Given the description of an element on the screen output the (x, y) to click on. 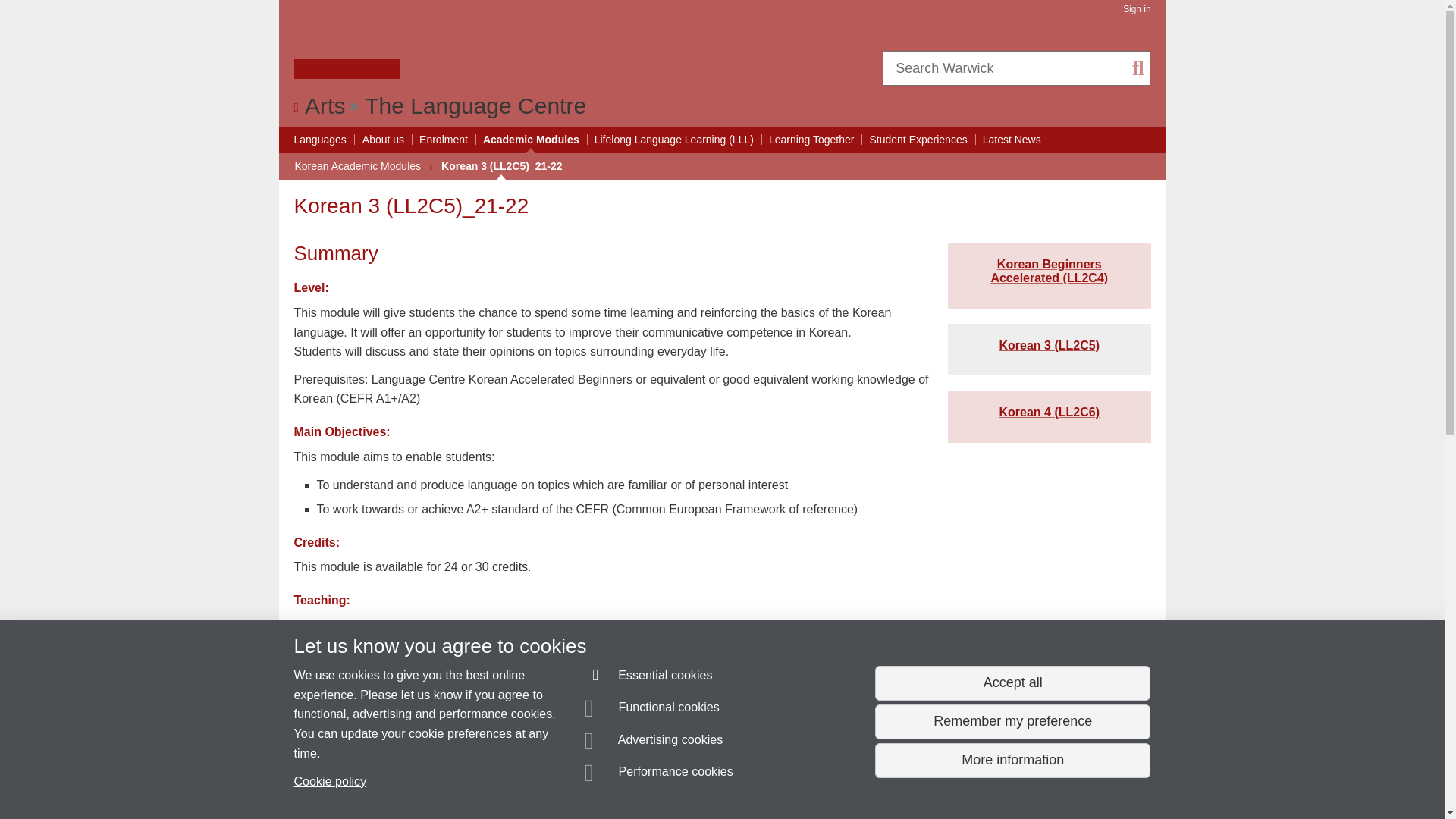
Academic Modules (531, 139)
Accept all functional, advertising and performance cookies (1012, 683)
Faculty of Arts home page (324, 105)
Essential cookies are always on (649, 677)
Languages (320, 139)
Sign in (1136, 9)
Enrolment (443, 139)
University of Warwick homepage (346, 48)
